Given the description of an element on the screen output the (x, y) to click on. 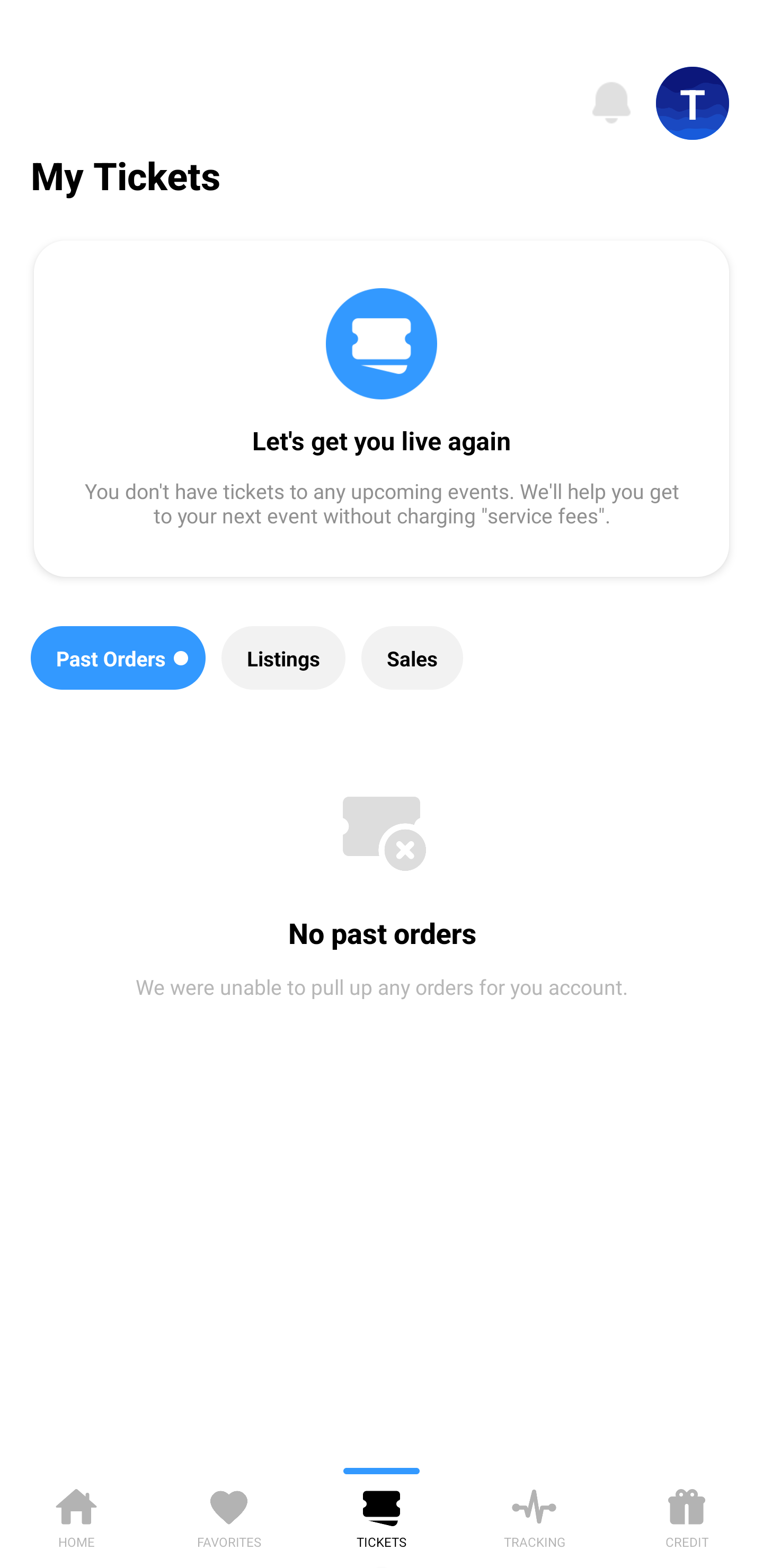
T (692, 103)
Past Orders (117, 657)
Listings (283, 657)
Sales (412, 657)
HOME (76, 1515)
FAVORITES (228, 1515)
TICKETS (381, 1515)
TRACKING (533, 1515)
CREDIT (686, 1515)
